Given the description of an element on the screen output the (x, y) to click on. 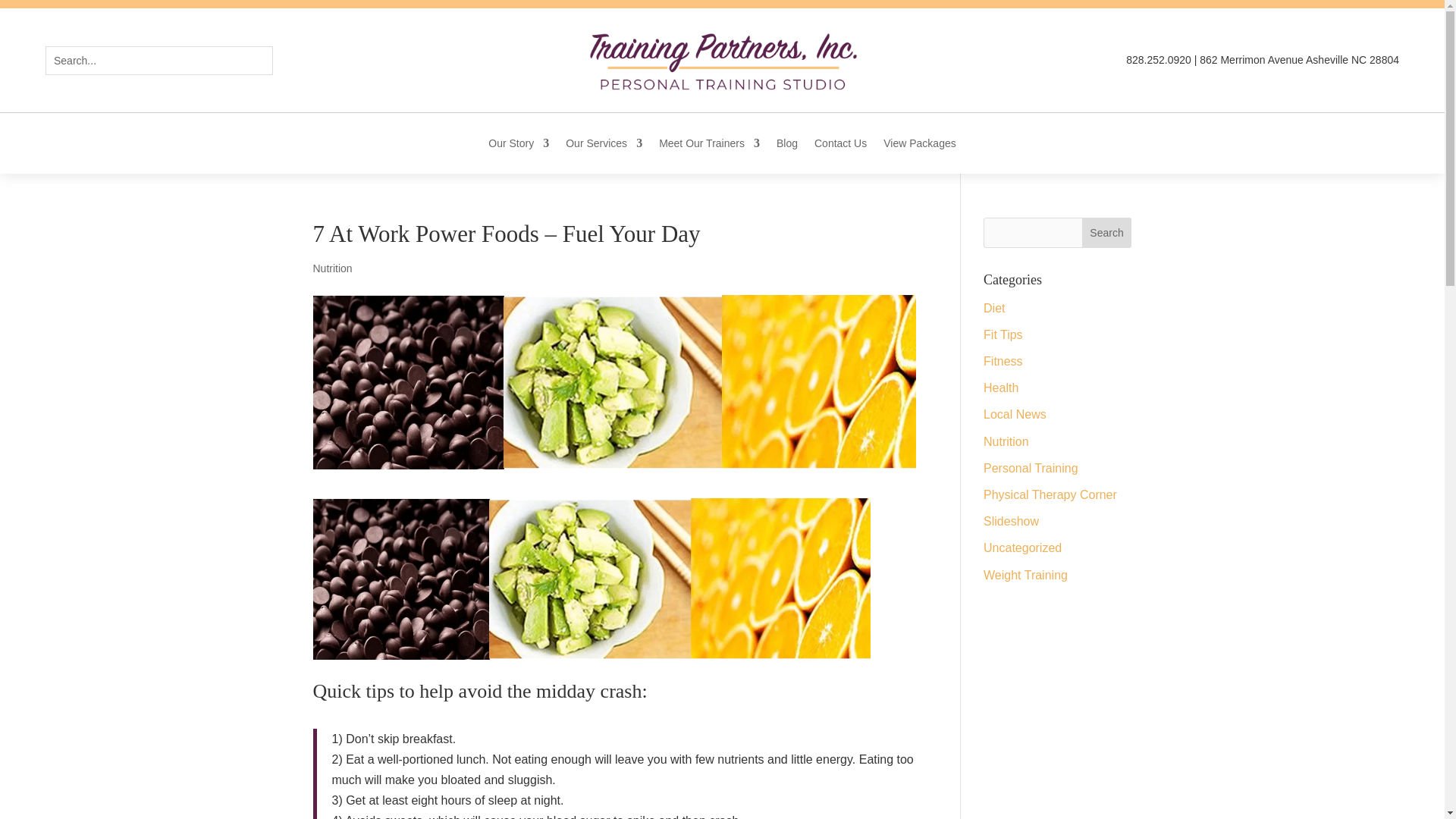
View Packages (919, 146)
Our Story (517, 146)
training partners asheville logo (721, 60)
Meet Our Trainers (709, 146)
Search (24, 13)
Contact Us (839, 146)
Blog (786, 146)
Our Services (604, 146)
